Given the description of an element on the screen output the (x, y) to click on. 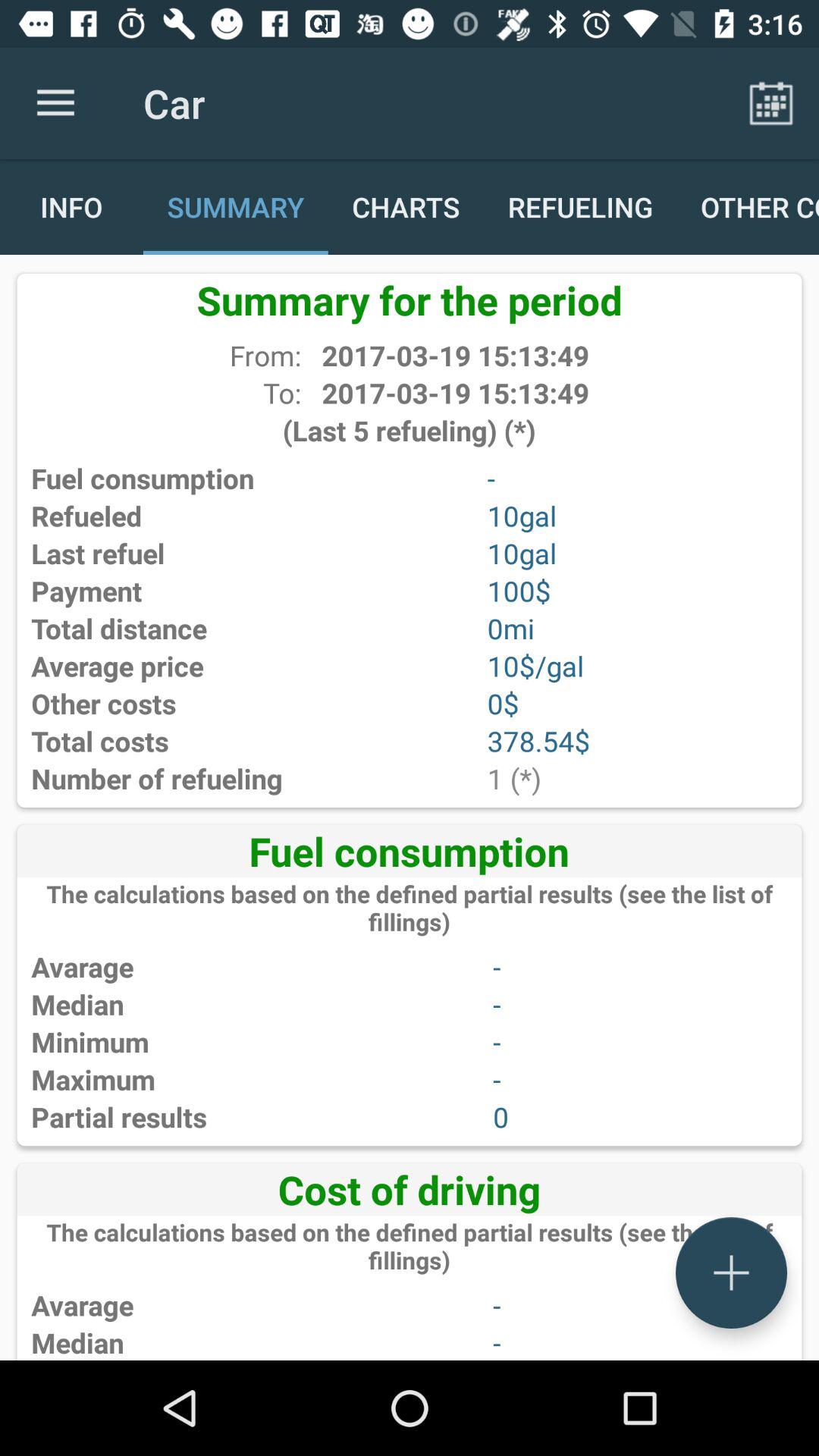
add a new page (731, 1272)
